Given the description of an element on the screen output the (x, y) to click on. 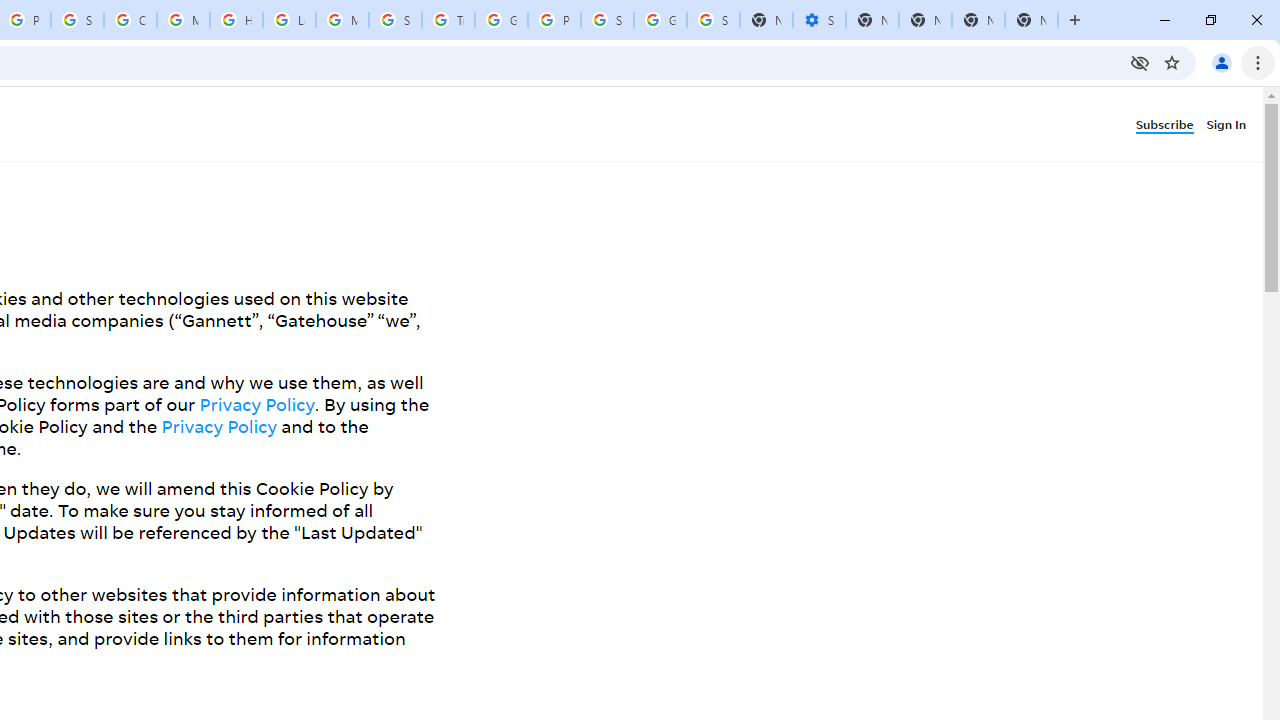
Subscribe (1169, 123)
Sign in - Google Accounts (607, 20)
New Tab (1031, 20)
Trusted Information and Content - Google Safety Center (448, 20)
